Given the description of an element on the screen output the (x, y) to click on. 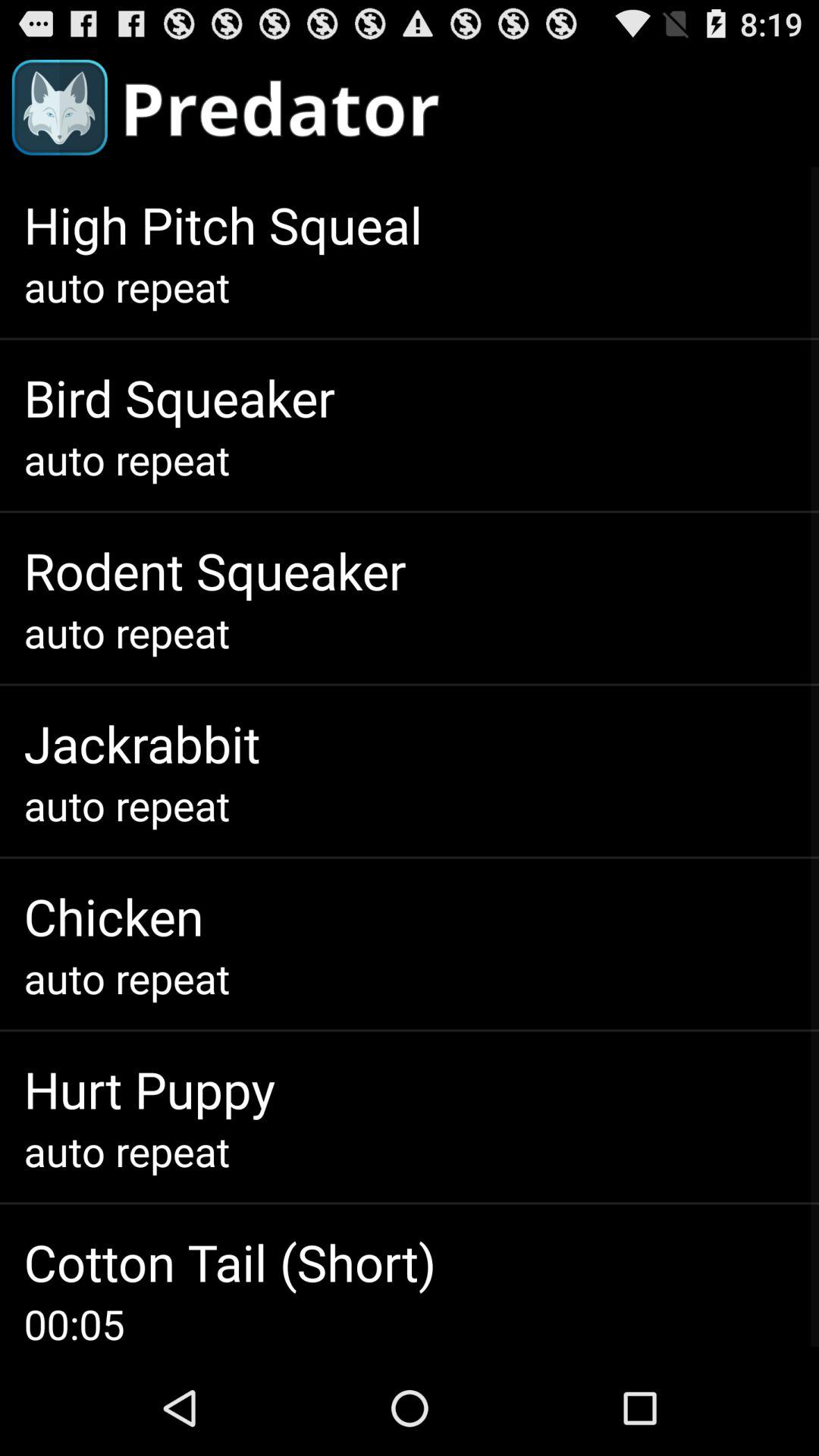
click icon below auto repeat icon (229, 1262)
